Given the description of an element on the screen output the (x, y) to click on. 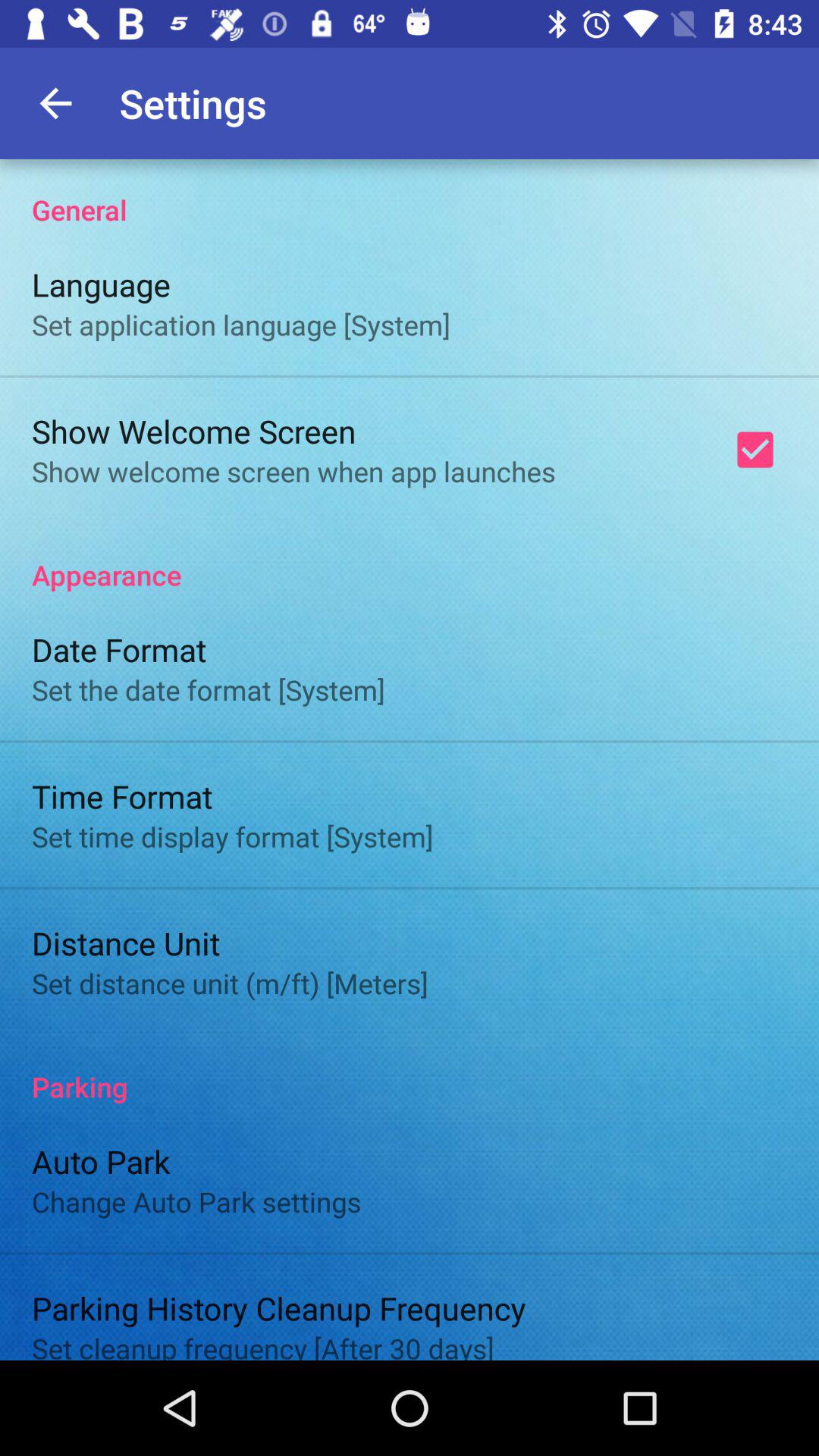
jump to the general icon (409, 193)
